Given the description of an element on the screen output the (x, y) to click on. 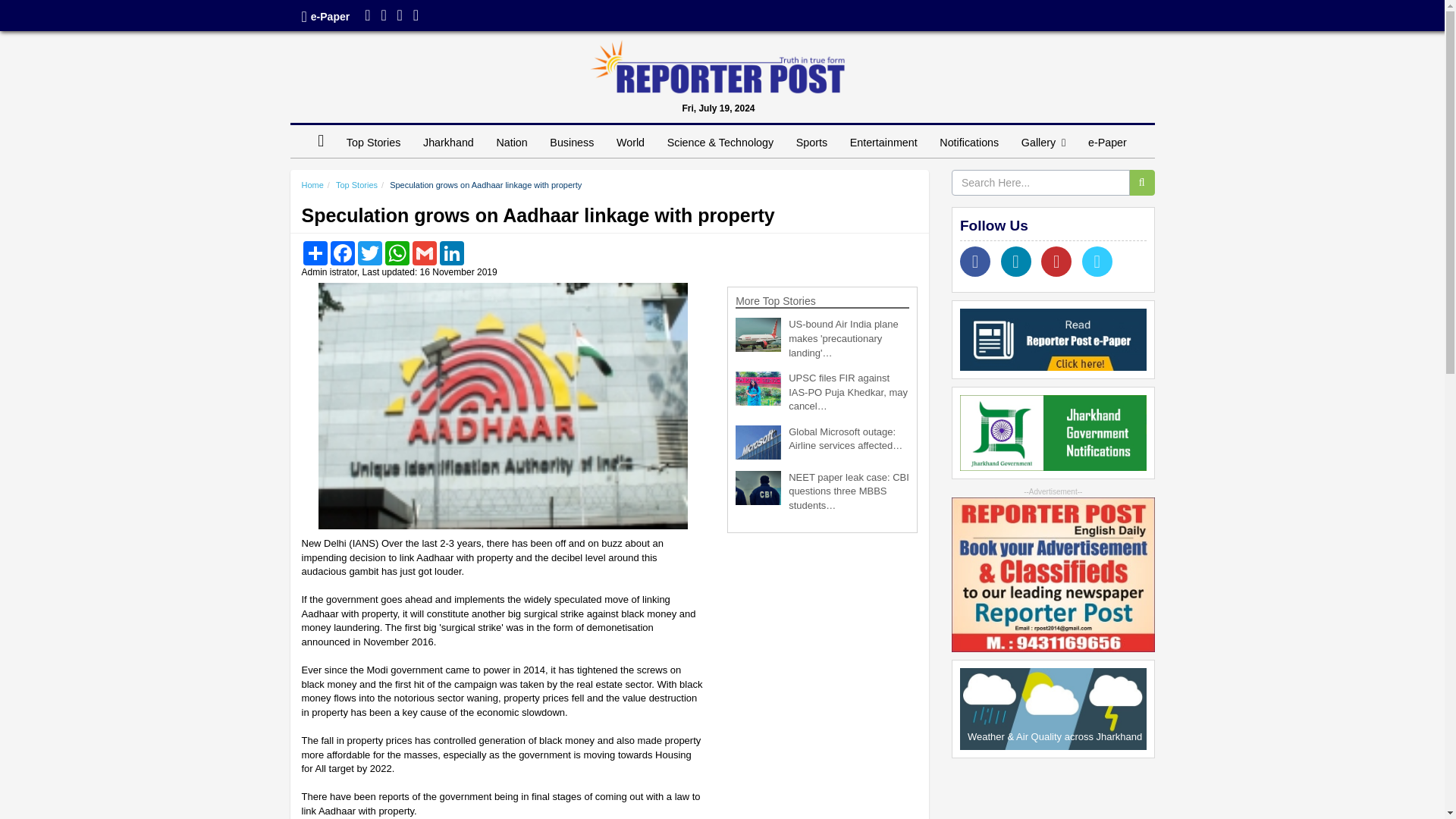
Jharkhand (448, 142)
Entertainment (883, 142)
Top Stories (373, 142)
Read Reporter Post ePaper (1053, 339)
Nation (511, 142)
Instagram (399, 16)
Sports (811, 142)
e-Paper (1107, 142)
Business (572, 142)
Gallery   (1043, 142)
Reporter Post (717, 66)
Twitter (383, 16)
World (630, 142)
e-Paper (330, 16)
Notifications (969, 142)
